Given the description of an element on the screen output the (x, y) to click on. 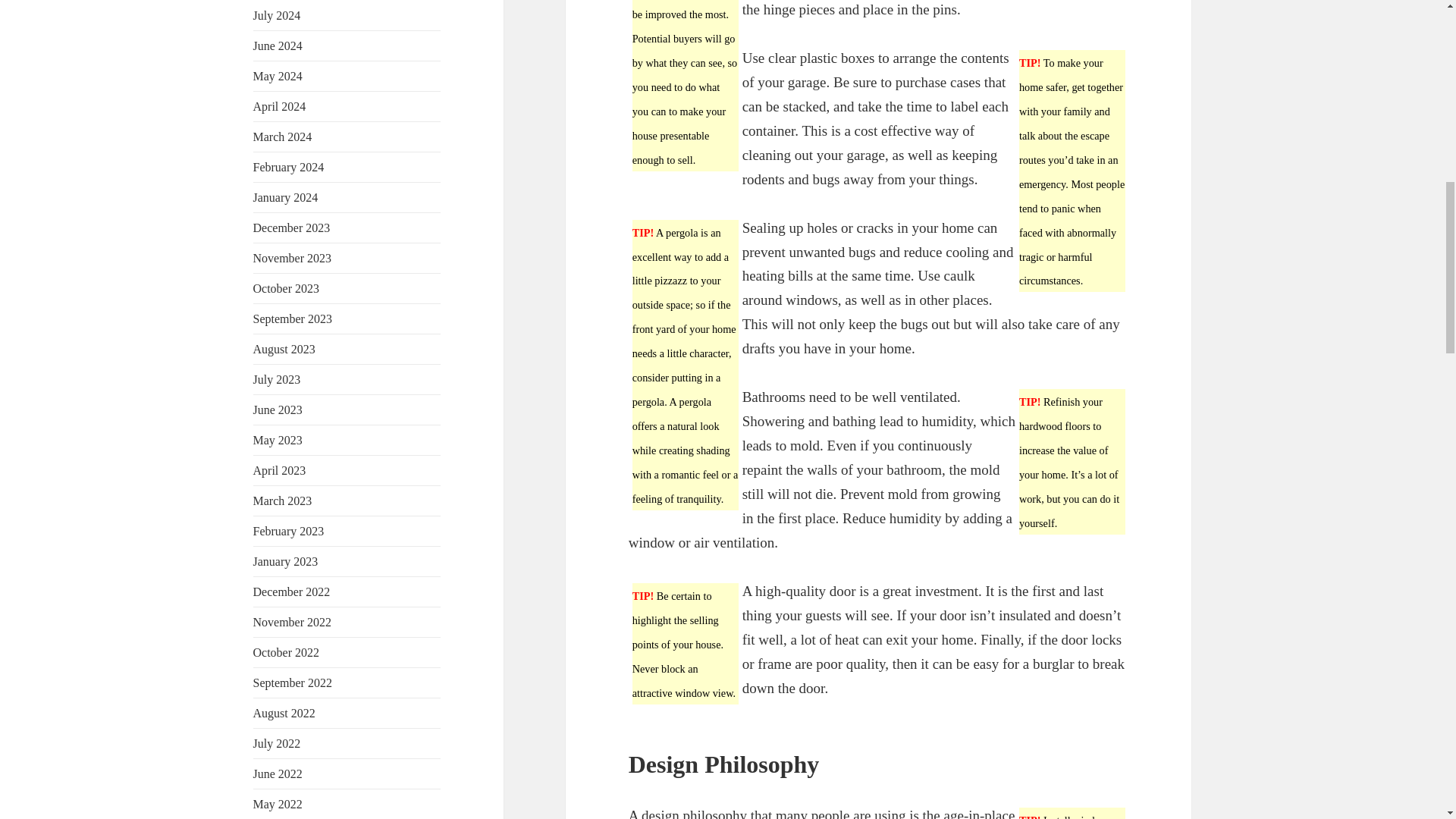
May 2022 (277, 803)
May 2023 (277, 440)
November 2022 (292, 621)
March 2024 (283, 136)
July 2023 (277, 379)
July 2022 (277, 743)
September 2023 (292, 318)
December 2023 (291, 227)
January 2023 (285, 561)
April 2023 (279, 470)
